Given the description of an element on the screen output the (x, y) to click on. 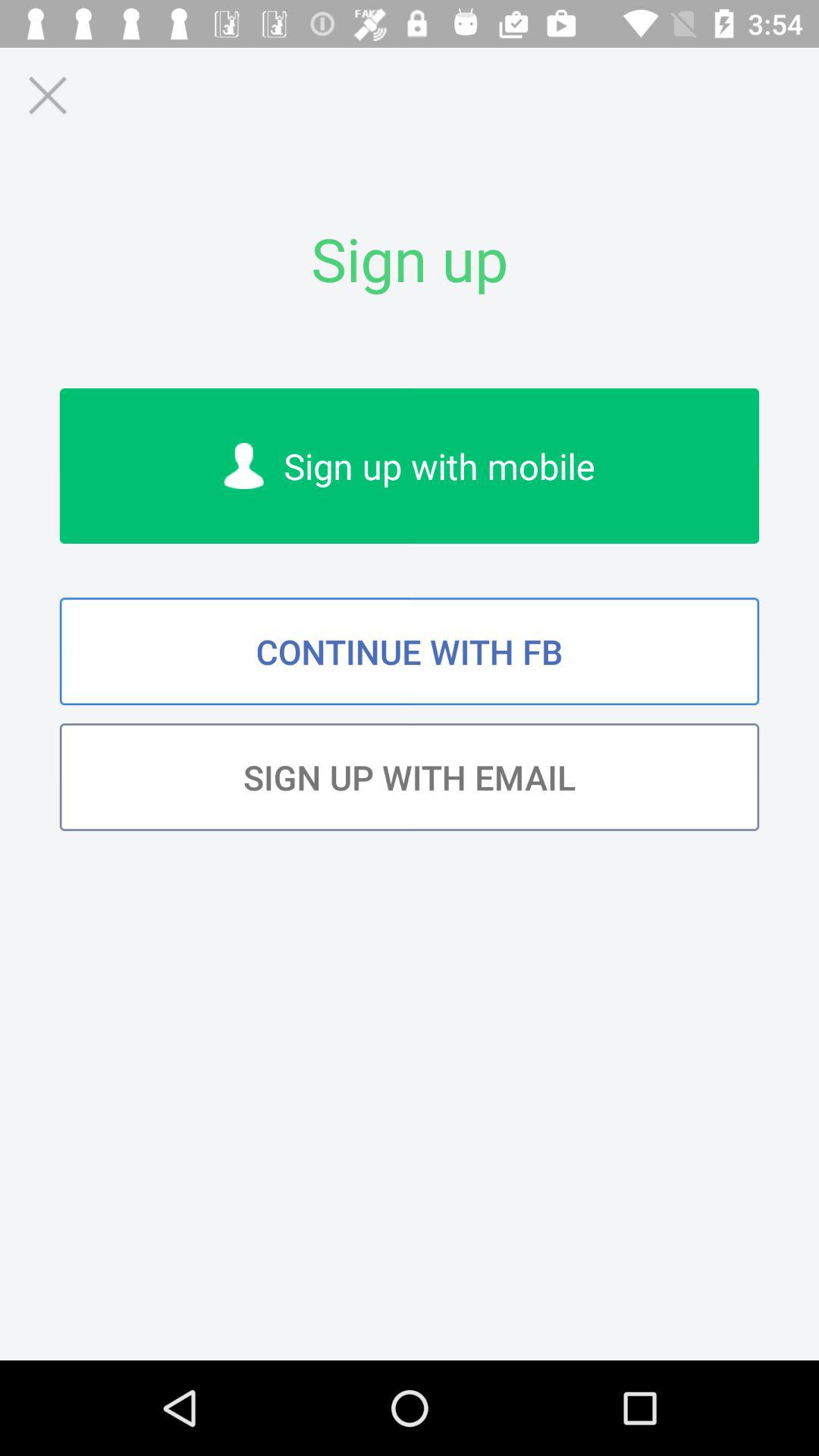
press continue with fb (409, 651)
